Given the description of an element on the screen output the (x, y) to click on. 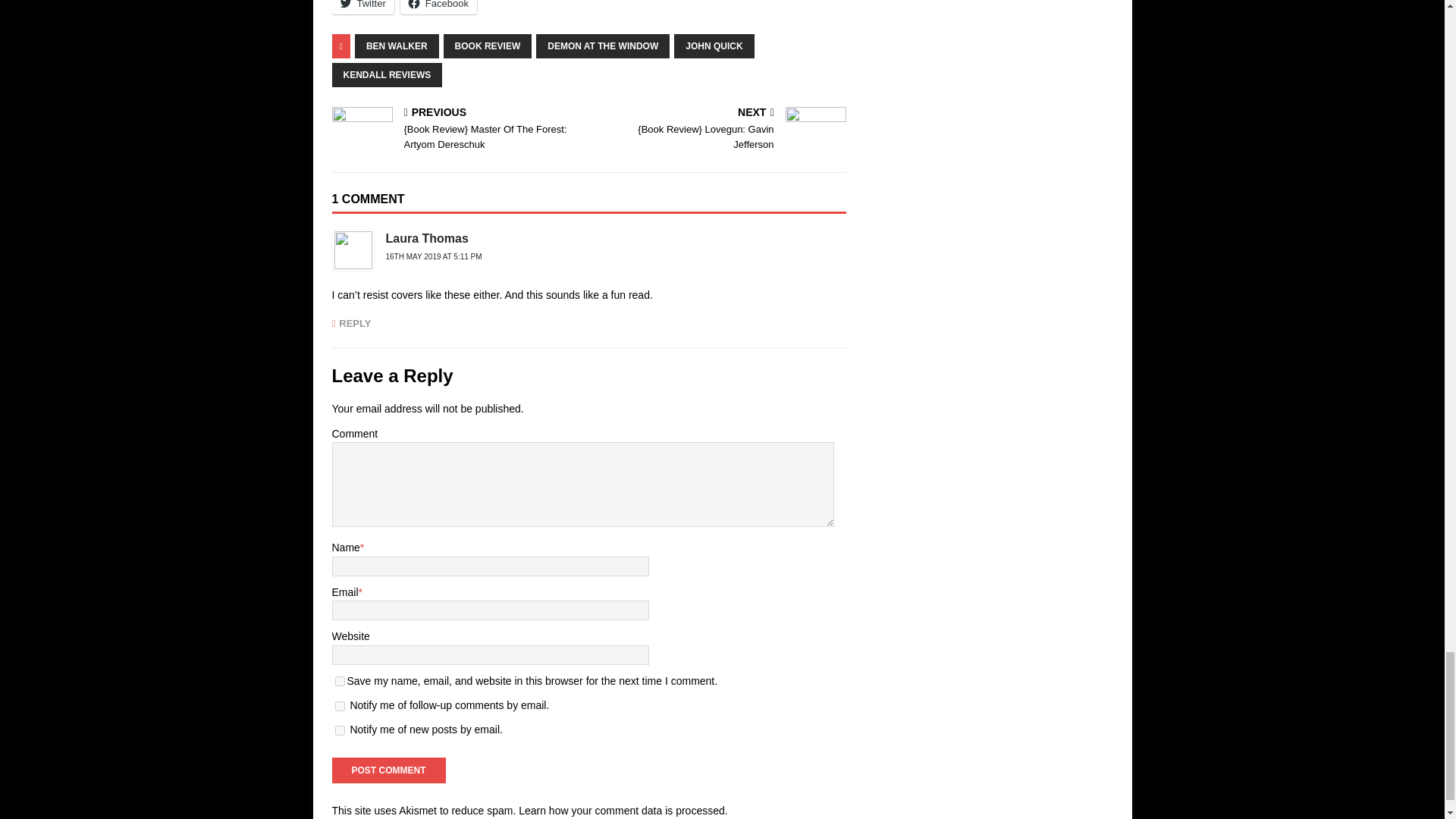
BEN WALKER (397, 46)
Post Comment (388, 769)
Facebook (438, 7)
JOHN QUICK (714, 46)
Twitter (362, 7)
subscribe (339, 706)
KENDALL REVIEWS (386, 74)
DEMON AT THE WINDOW (602, 46)
yes (339, 681)
Click to share on Facebook (438, 7)
